Given the description of an element on the screen output the (x, y) to click on. 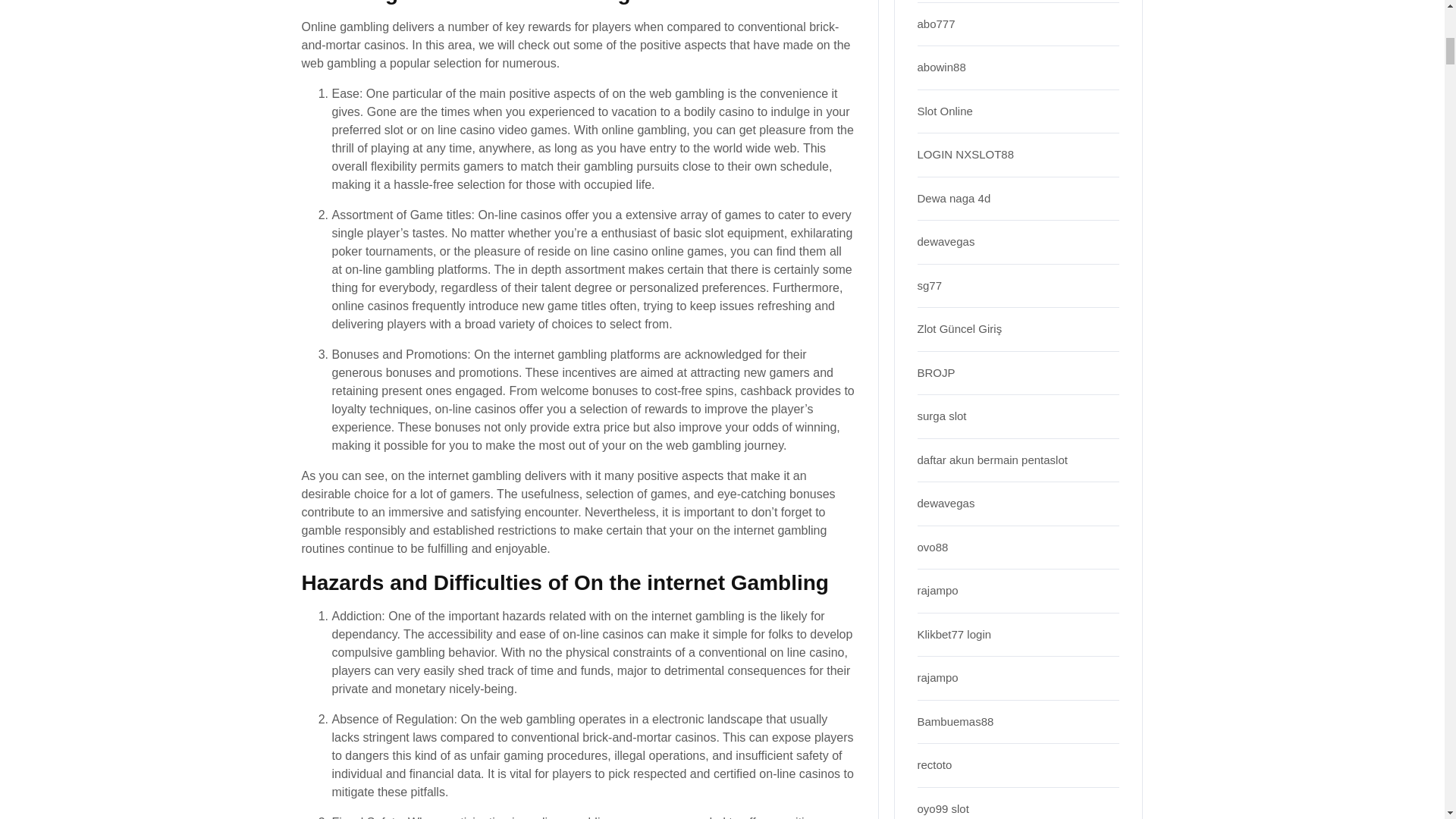
abowin88 (941, 66)
dewavegas (946, 241)
rajampo (937, 676)
abo777 (936, 23)
ovo88 (933, 546)
sg77 (929, 285)
BROJP (936, 372)
rectoto (934, 764)
LOGIN NXSLOT88 (965, 154)
Dewa naga 4d (954, 197)
dewavegas (946, 502)
surga slot (941, 415)
rajampo (937, 590)
Bambuemas88 (955, 721)
Slot Online (944, 110)
